Given the description of an element on the screen output the (x, y) to click on. 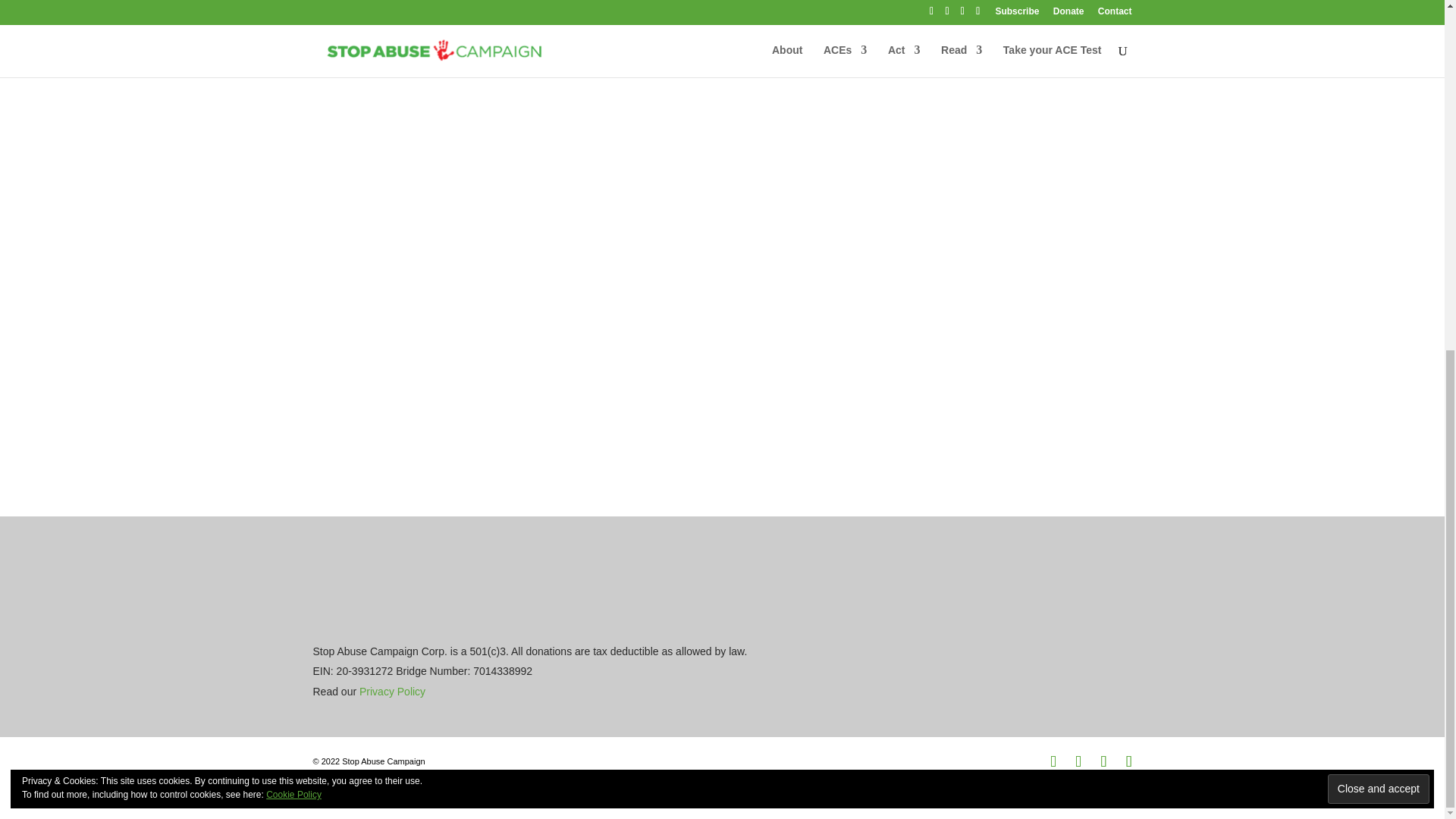
Cookie Policy (293, 187)
Privacy Policy (392, 691)
Close and accept (1378, 182)
Close and accept (1378, 182)
